Given the description of an element on the screen output the (x, y) to click on. 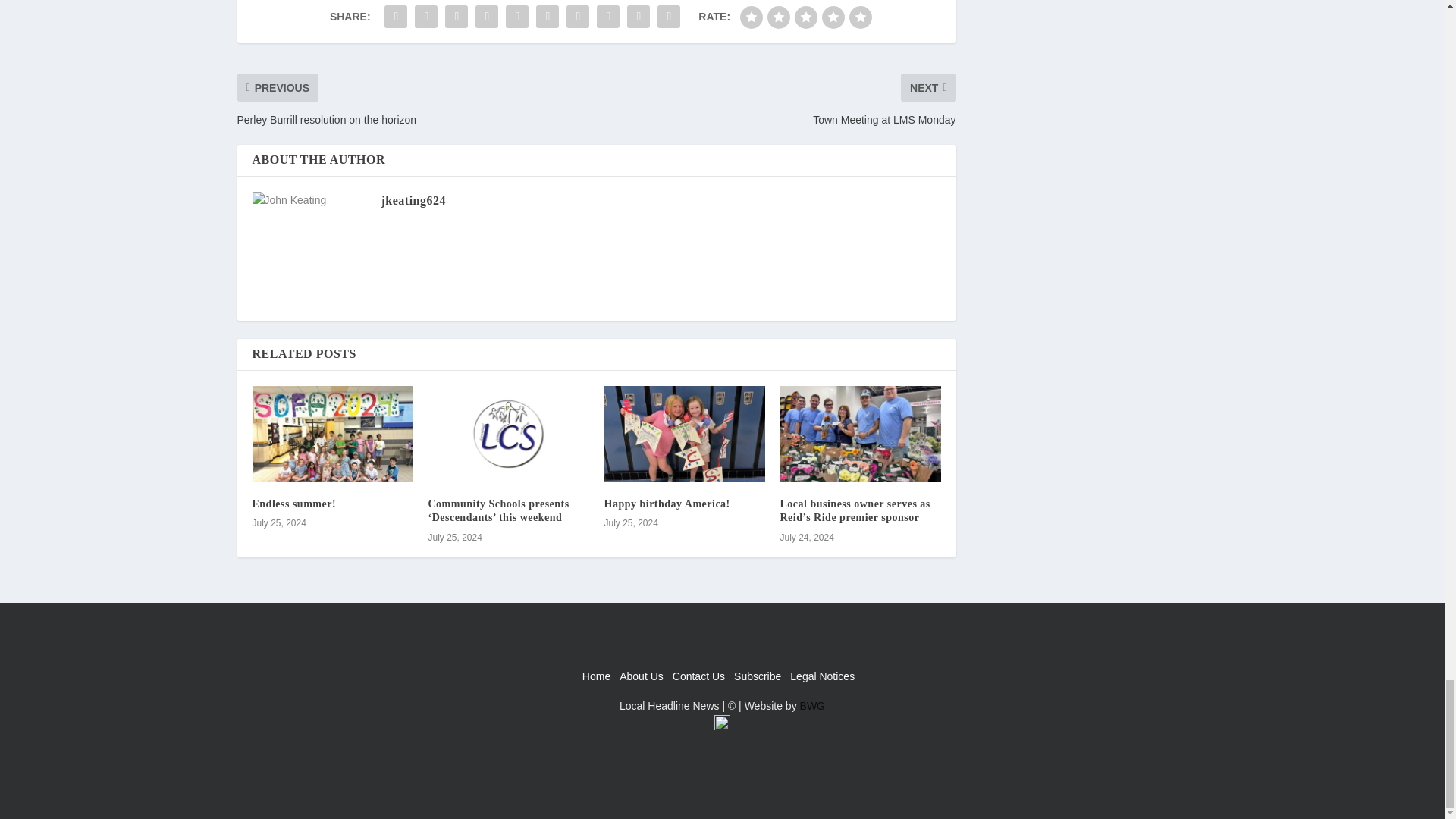
jkeating624 (412, 200)
Endless summer! (293, 503)
